Given the description of an element on the screen output the (x, y) to click on. 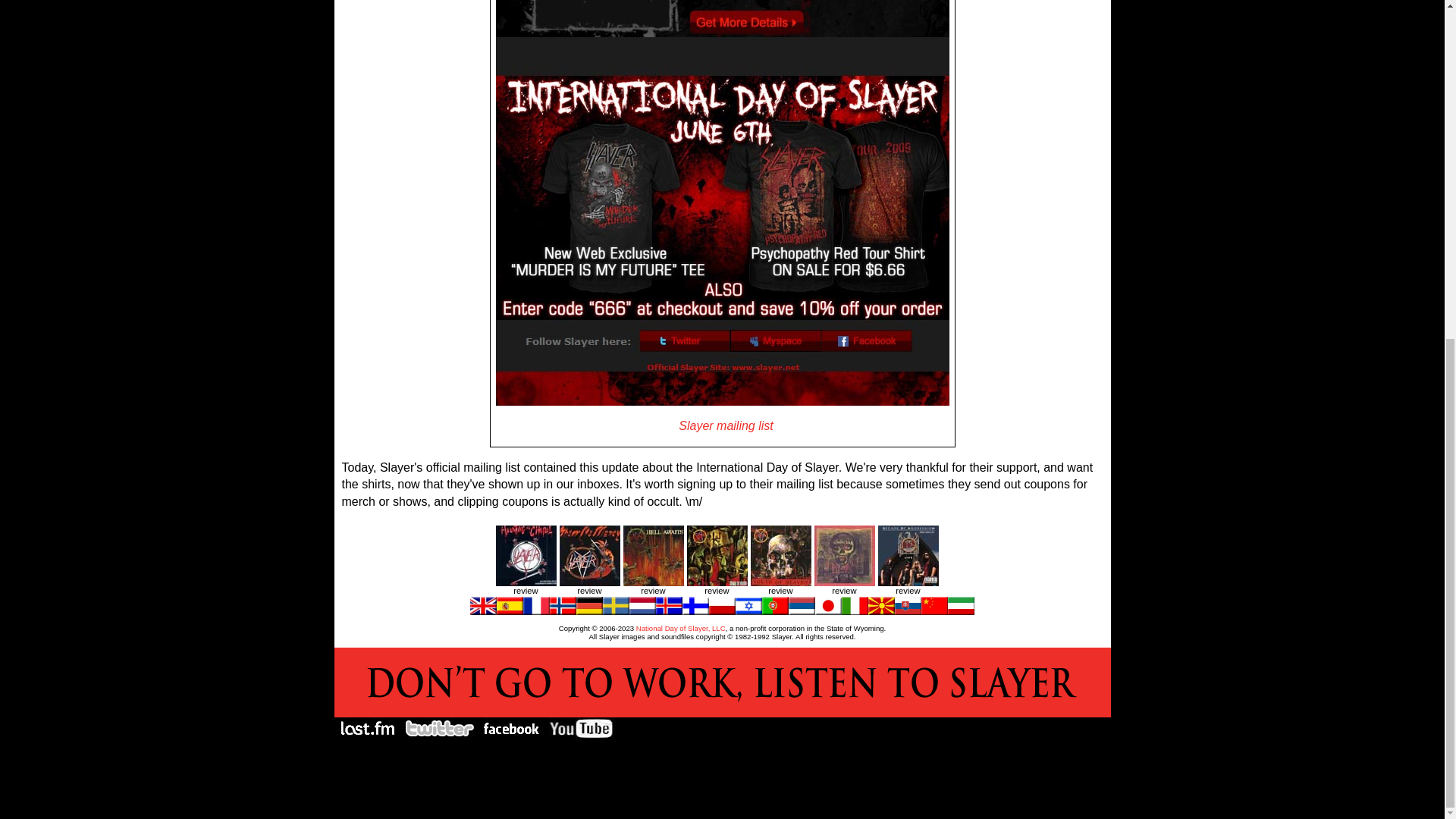
Buy Slayer - Decade of Aggression (908, 583)
Norwegian National Day of Slayer (563, 610)
Buy Slayer - South of Heaven (780, 583)
Buy Slayer - Reign in Blood (717, 583)
Buy Slayer - Hell Awaits (653, 583)
Icelandic National Day of Slayer (669, 610)
Buy Slayer - Haunting the Chapel (526, 583)
Swedish National Day of Slayer (615, 610)
Buy Slayer - Show No Mercy (589, 583)
review (716, 590)
